Given the description of an element on the screen output the (x, y) to click on. 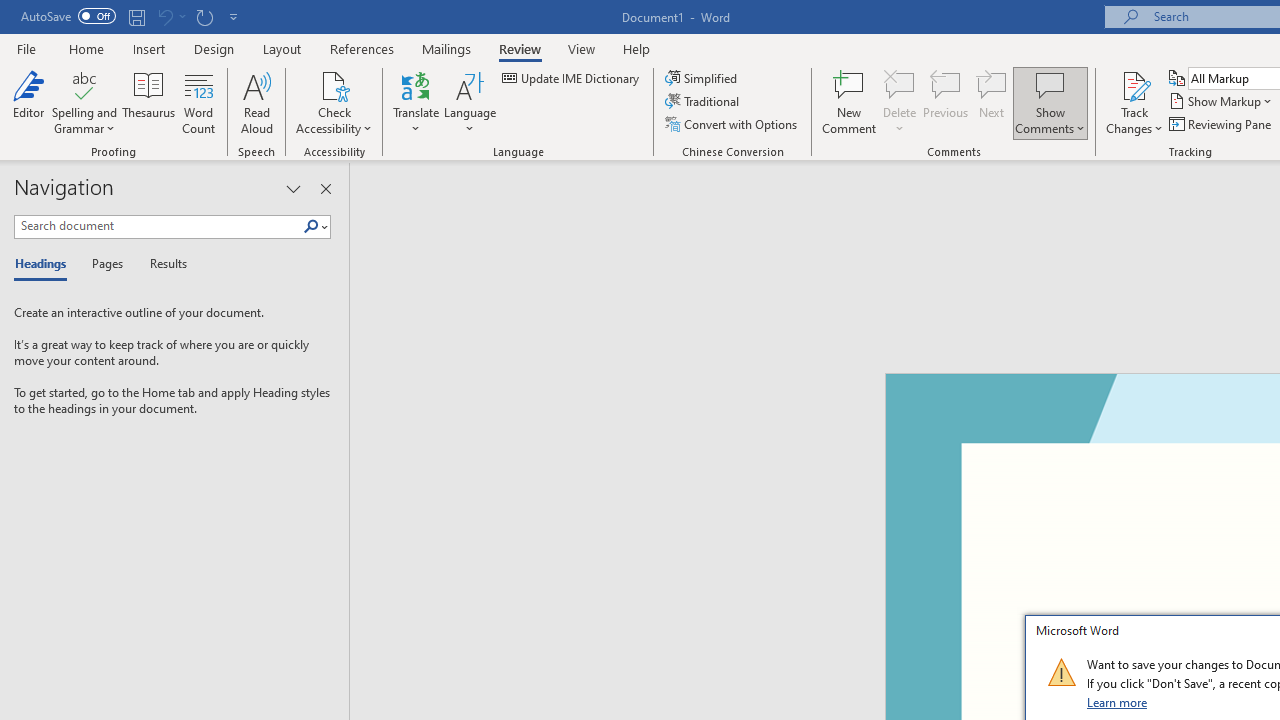
Can't Undo (164, 15)
Traditional (703, 101)
Next (991, 102)
Learn more (1118, 702)
Track Changes (1134, 84)
Show Markup (1222, 101)
Delete (900, 102)
Check Accessibility (334, 102)
Convert with Options... (732, 124)
